Given the description of an element on the screen output the (x, y) to click on. 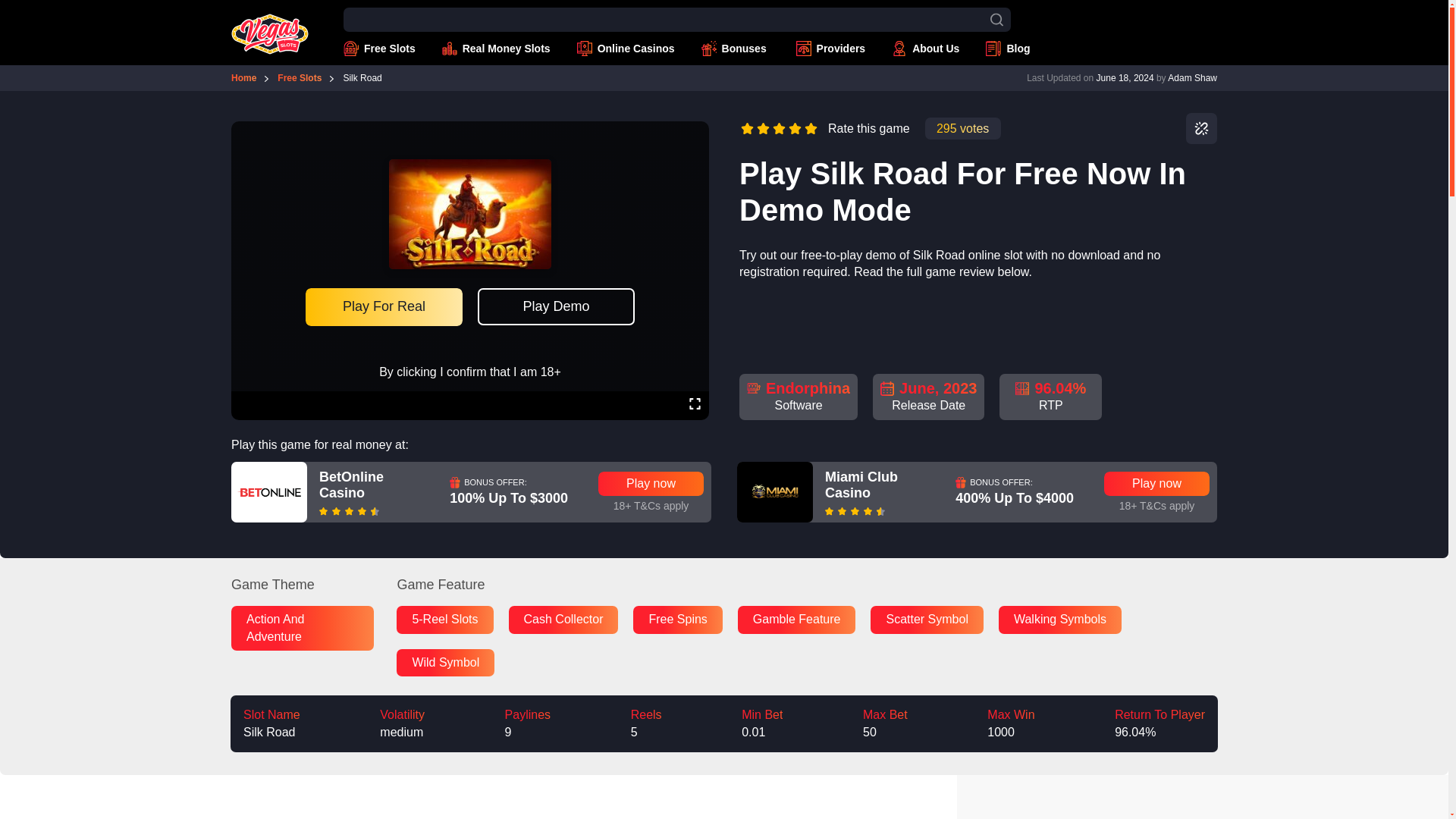
Online Casinos (625, 48)
Providers (831, 48)
search (996, 19)
Real Money Slots (496, 48)
Bonuses  (735, 48)
Search (6, 6)
Free Slots (378, 48)
